Given the description of an element on the screen output the (x, y) to click on. 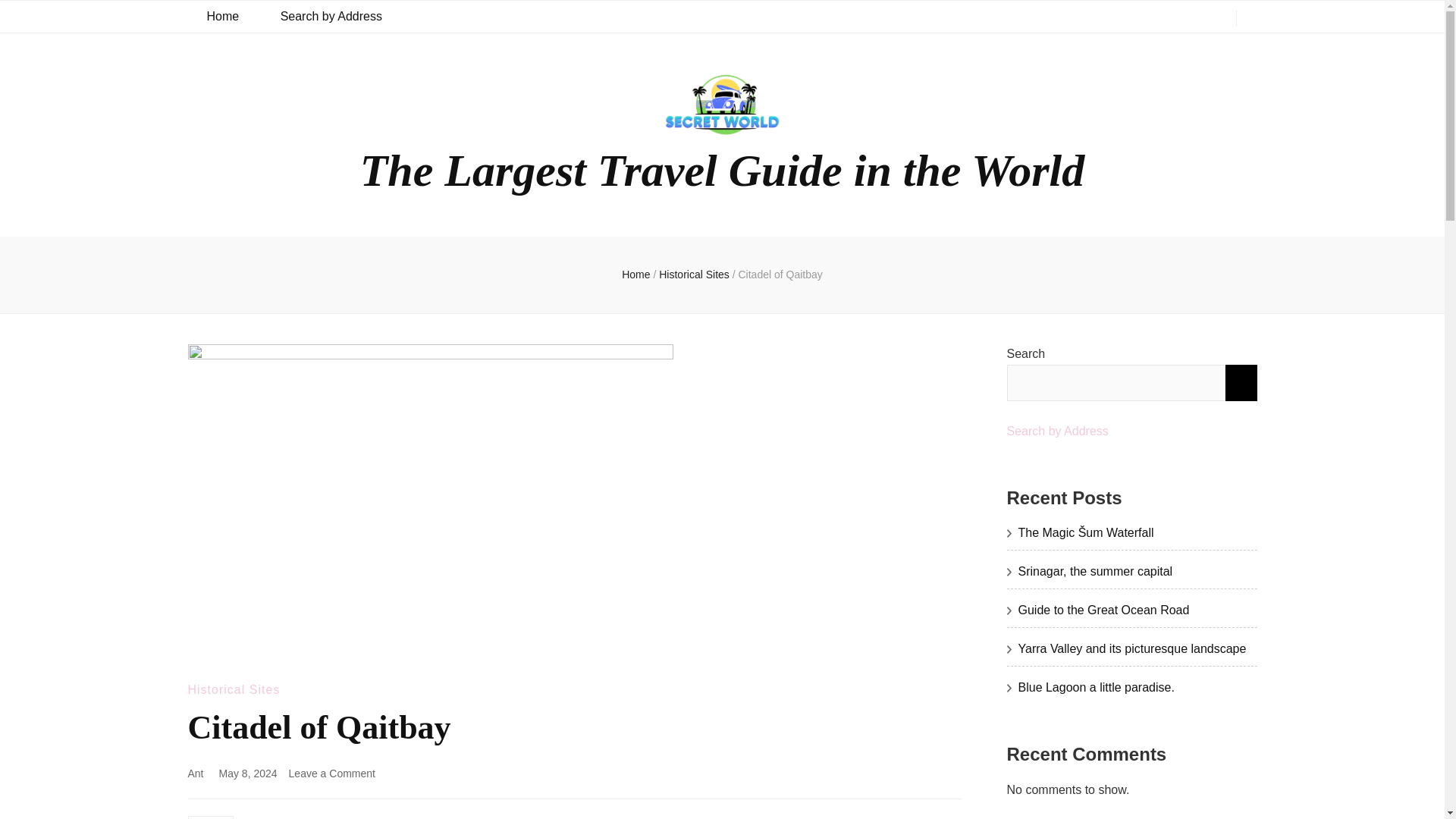
Search by Address (331, 16)
The Largest Travel Guide in the World (721, 170)
Citadel of Qaitbay (780, 274)
Home (635, 274)
Home (222, 16)
May 8, 2024 (248, 773)
Historical Sites (695, 274)
Ant (195, 773)
Historical Sites (331, 773)
